Given the description of an element on the screen output the (x, y) to click on. 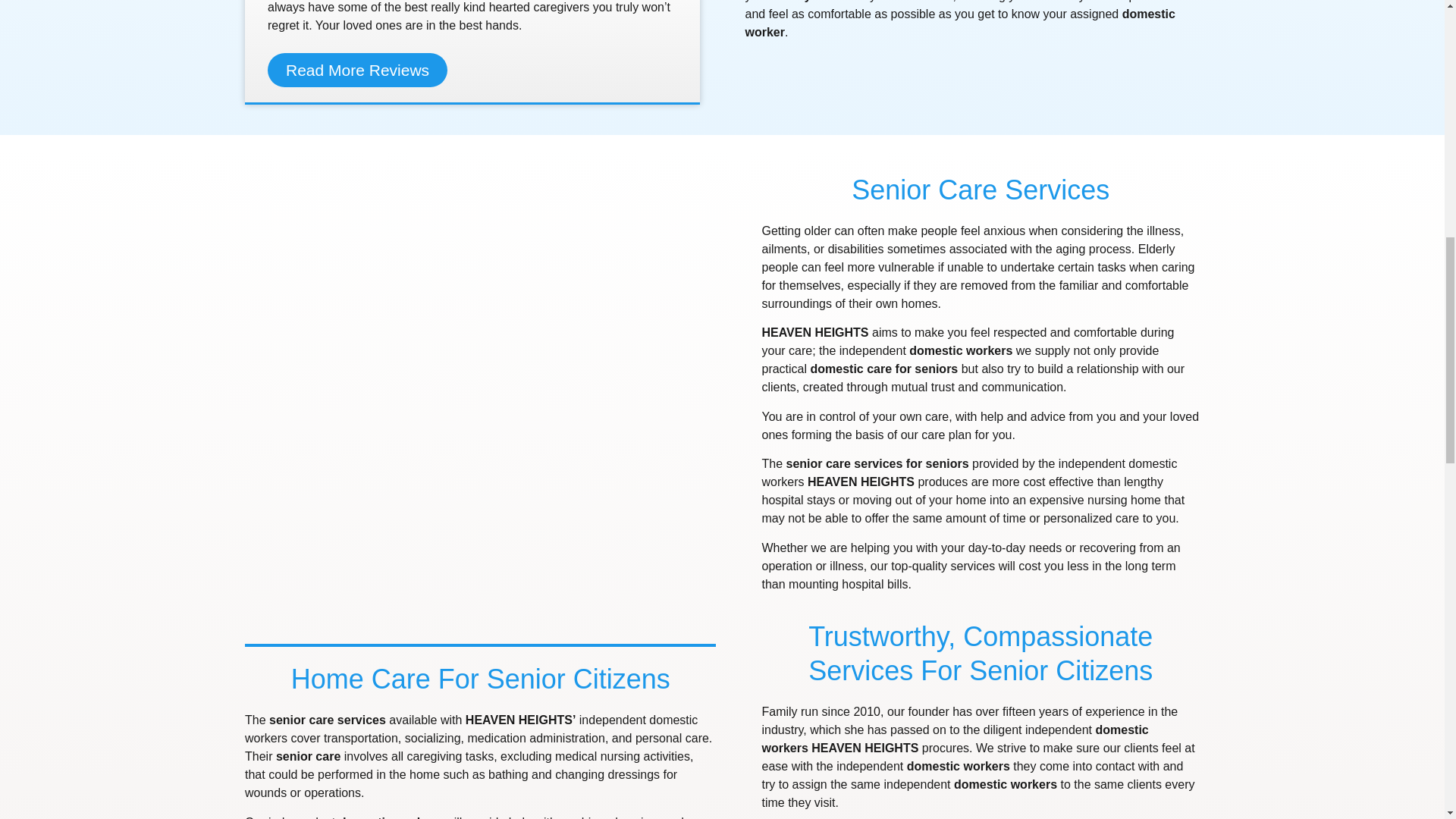
Read More Reviews (356, 69)
